Given the description of an element on the screen output the (x, y) to click on. 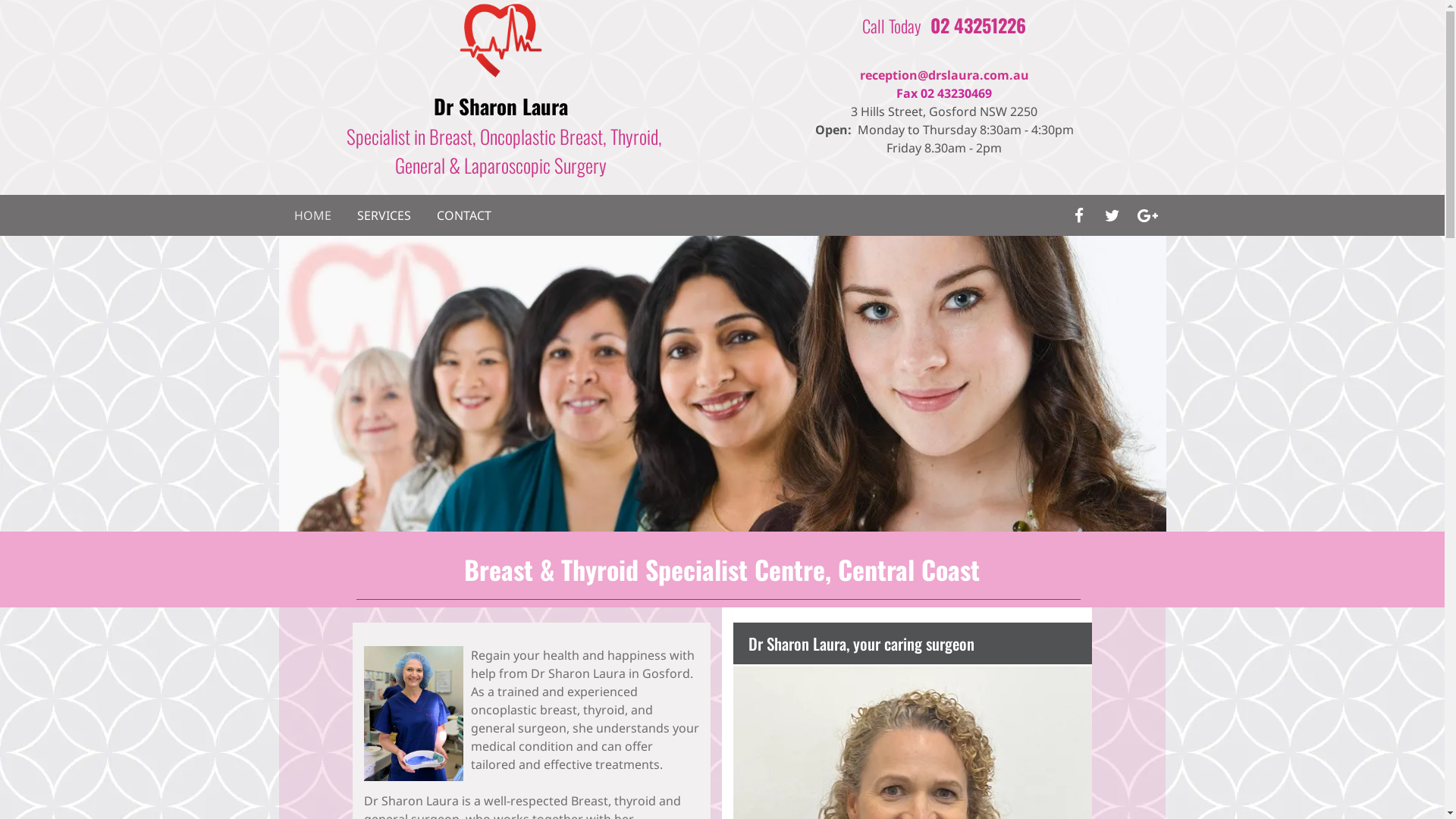
dr sharon laura gosford Element type: hover (500, 39)
reception@drslaura.com.au Element type: text (944, 74)
 02  Element type: text (939, 24)
laparoscopic surgeon dr sharon laura gosford Element type: hover (722, 383)
SERVICES Element type: text (383, 215)
CONTACT Element type: text (463, 215)
HOME Element type: text (312, 215)
